Given the description of an element on the screen output the (x, y) to click on. 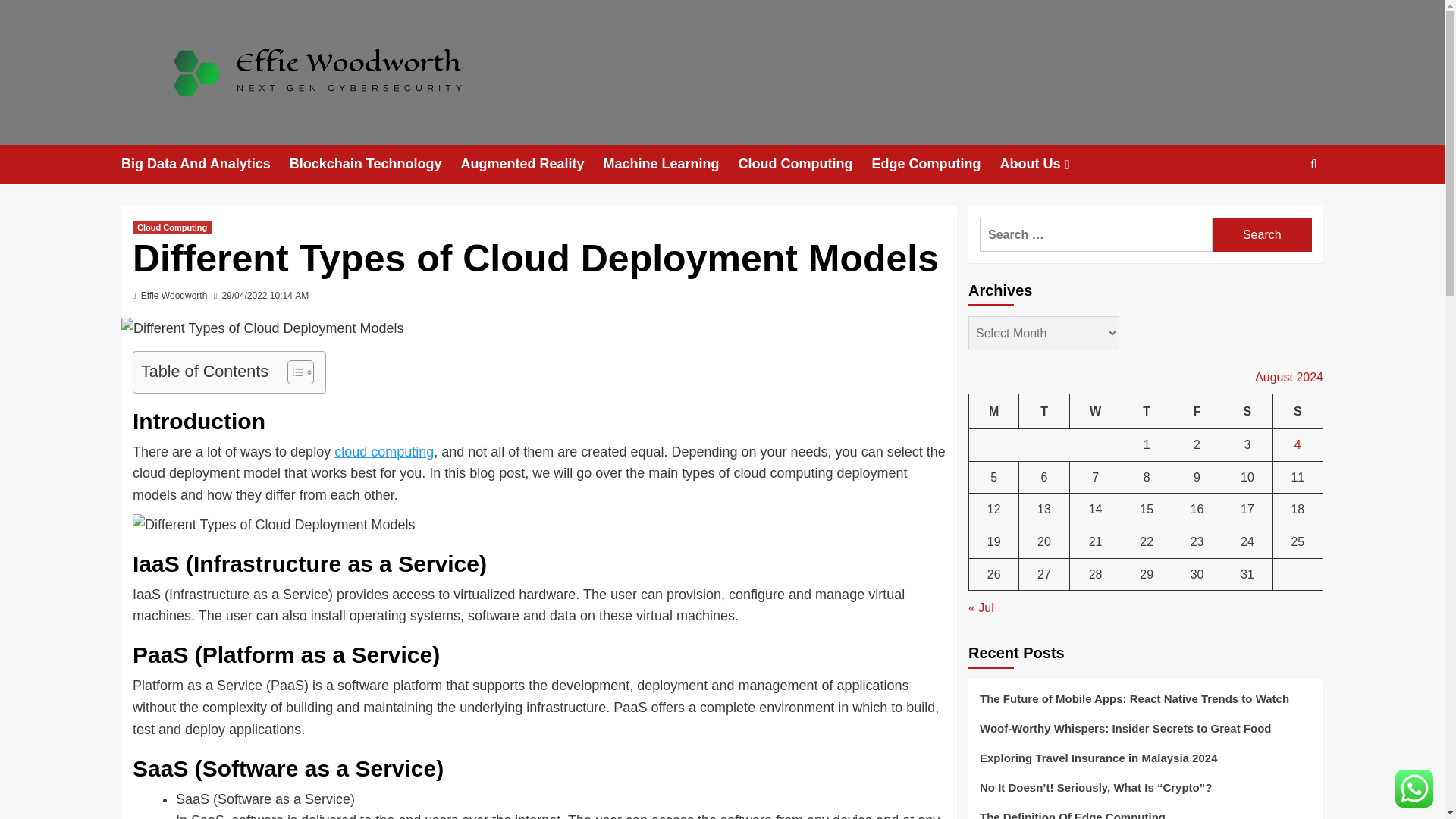
Search (1278, 211)
Big Data And Analytics (204, 163)
Effie Woodworth (174, 295)
Search (1261, 234)
Edge Computing (934, 163)
Blockchain Technology (375, 163)
Different Types of Cloud Deployment Models (273, 525)
About Us (1045, 163)
Cloud Computing (804, 163)
Machine Learning (670, 163)
